Given the description of an element on the screen output the (x, y) to click on. 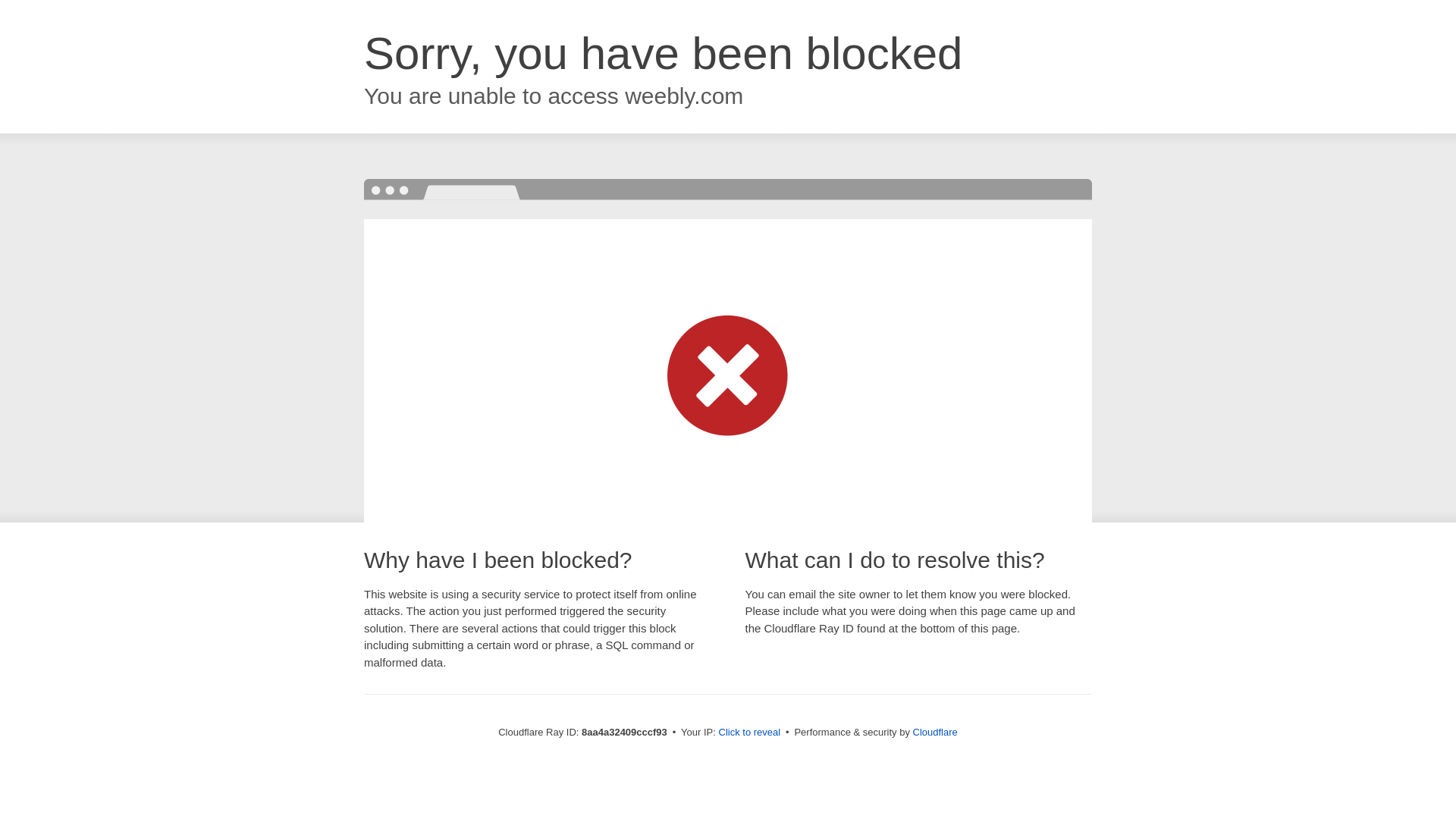
Cloudflare (935, 731)
Click to reveal (749, 732)
